Given the description of an element on the screen output the (x, y) to click on. 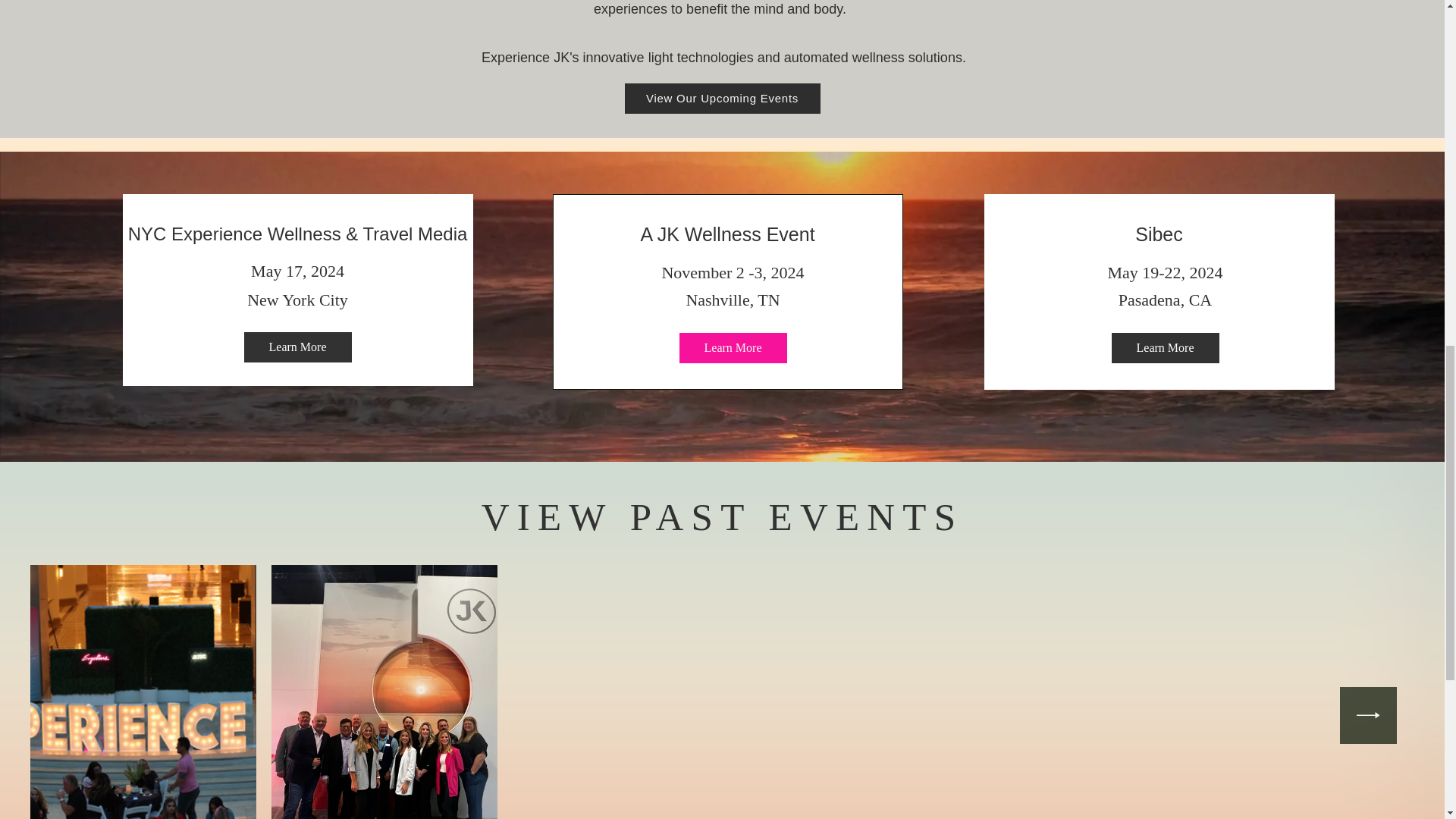
VIEW PAST EVENTS (721, 517)
Learn More (733, 347)
Learn More (1166, 347)
View Our Upcoming Events (722, 98)
Learn More (298, 347)
